Given the description of an element on the screen output the (x, y) to click on. 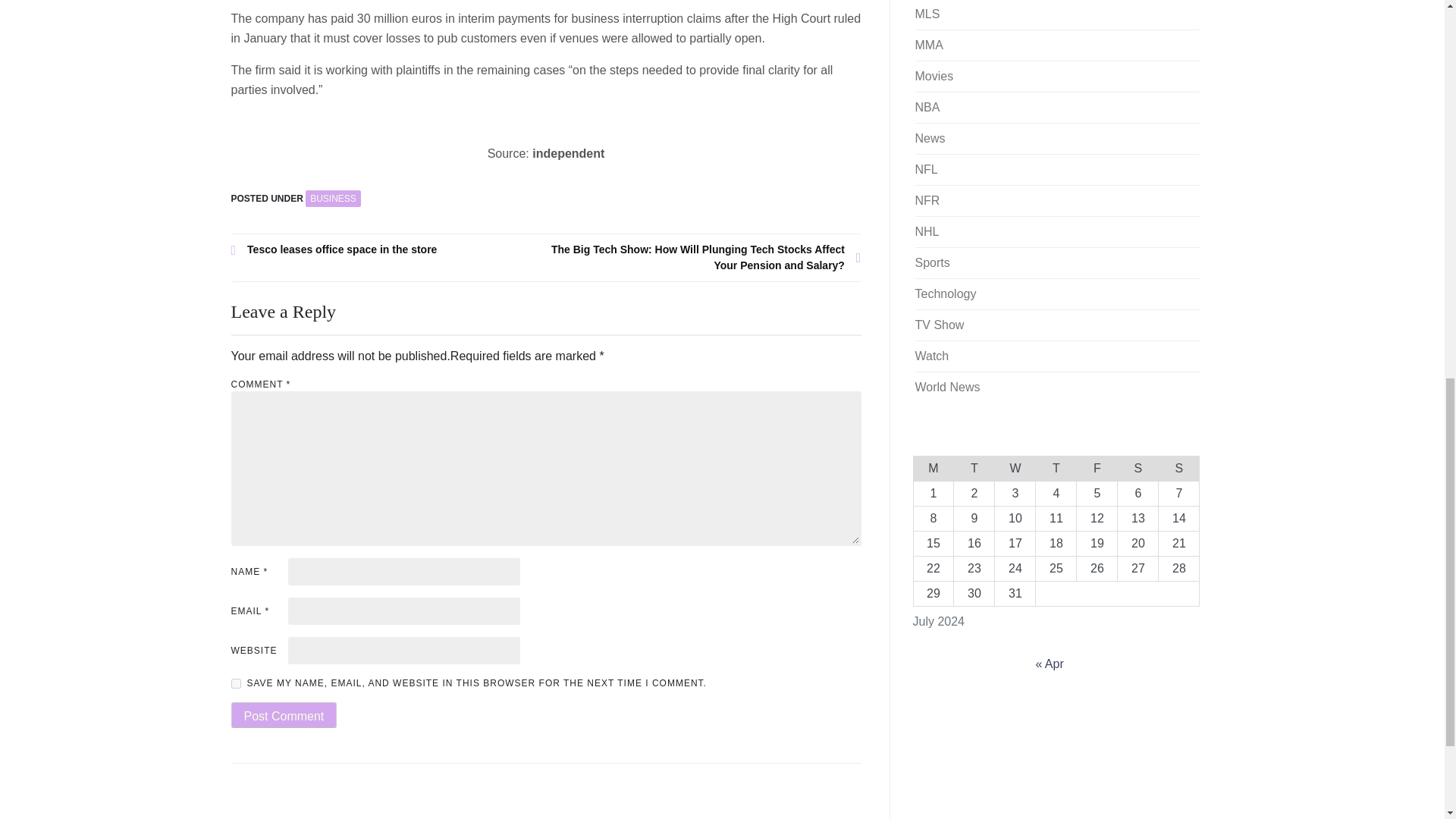
Thursday (1056, 467)
Saturday (1138, 467)
Tesco leases office space in the store (388, 249)
Sunday (1178, 467)
Wednesday (1014, 467)
Friday (1097, 467)
Tuesday (973, 467)
Post Comment (283, 714)
yes (235, 683)
BUSINESS (333, 198)
Monday (932, 467)
